Given the description of an element on the screen output the (x, y) to click on. 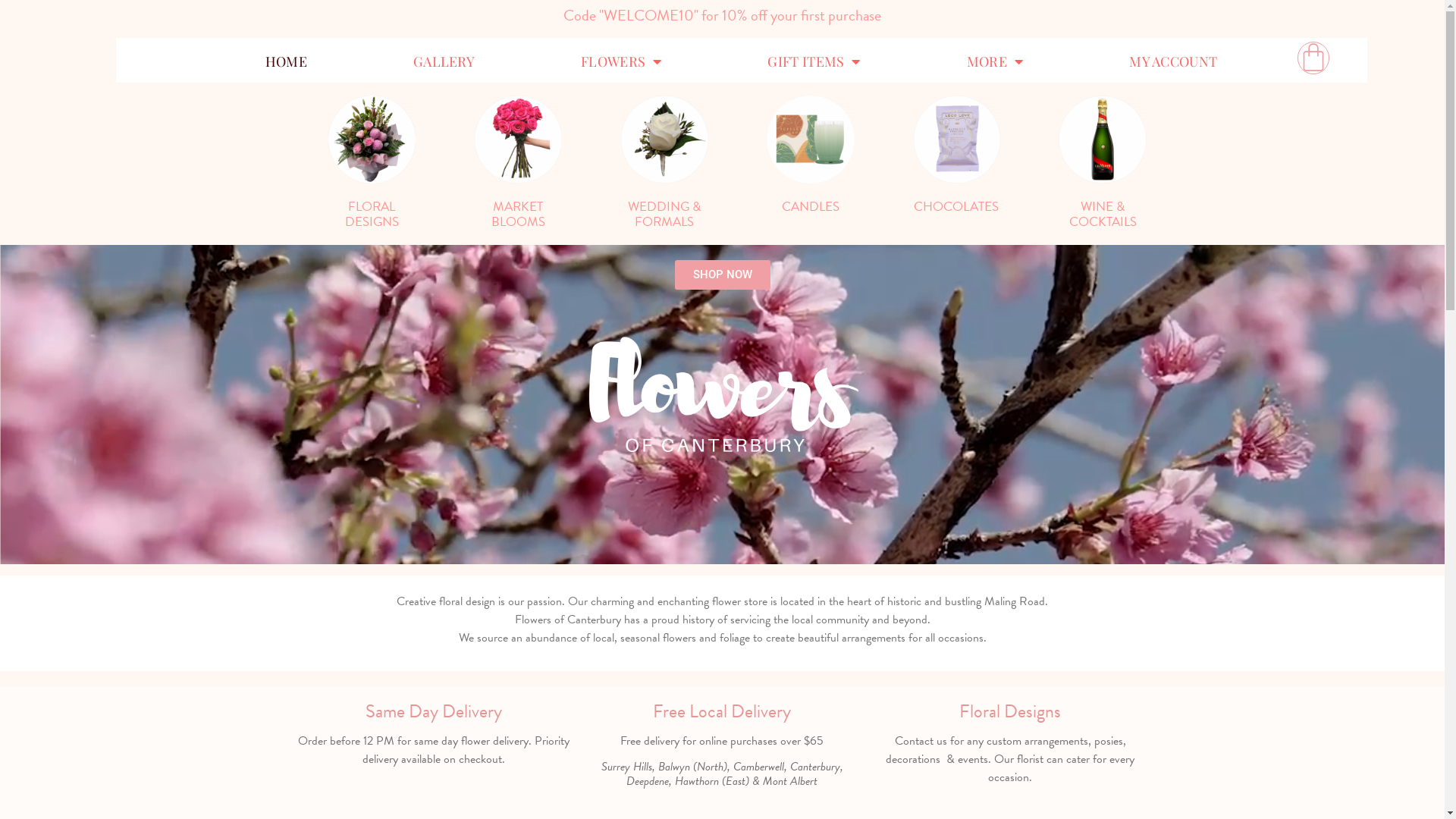
WEDDING & FORMALS Element type: text (664, 162)
MARKET BLOOMS Element type: text (517, 162)
FLORAL DESIGNS Element type: text (371, 162)
MORE Element type: text (994, 60)
GIFT ITEMS Element type: text (813, 60)
HOME Element type: text (286, 60)
CANDLES Element type: text (810, 154)
GALLERY Element type: text (443, 60)
SHOP NOW Element type: text (722, 274)
FLOWERS Element type: text (620, 60)
WINE & COCKTAILS Element type: text (1102, 162)
MY ACCOUNT Element type: text (1172, 60)
CHOCOLATES Element type: text (957, 154)
